Given the description of an element on the screen output the (x, y) to click on. 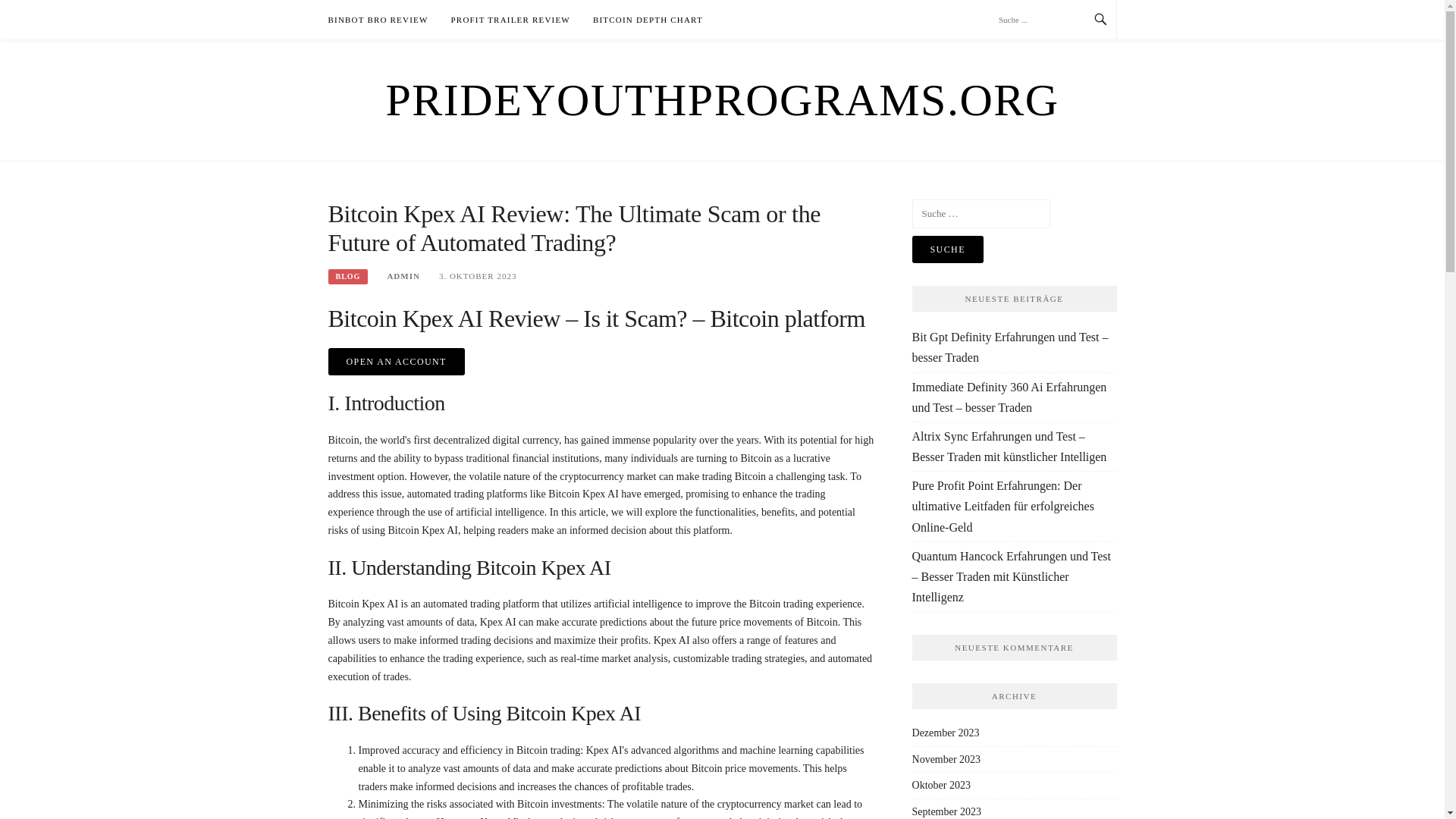
Oktober 2023 (941, 785)
PROFIT TRAILER REVIEW (510, 19)
BLOG (347, 276)
BITCOIN DEPTH CHART (647, 19)
OPEN AN ACCOUNT (395, 360)
Suche (948, 248)
Suche (948, 248)
BINBOT BRO REVIEW (377, 19)
November 2023 (946, 758)
Dezember 2023 (945, 732)
